Given the description of an element on the screen output the (x, y) to click on. 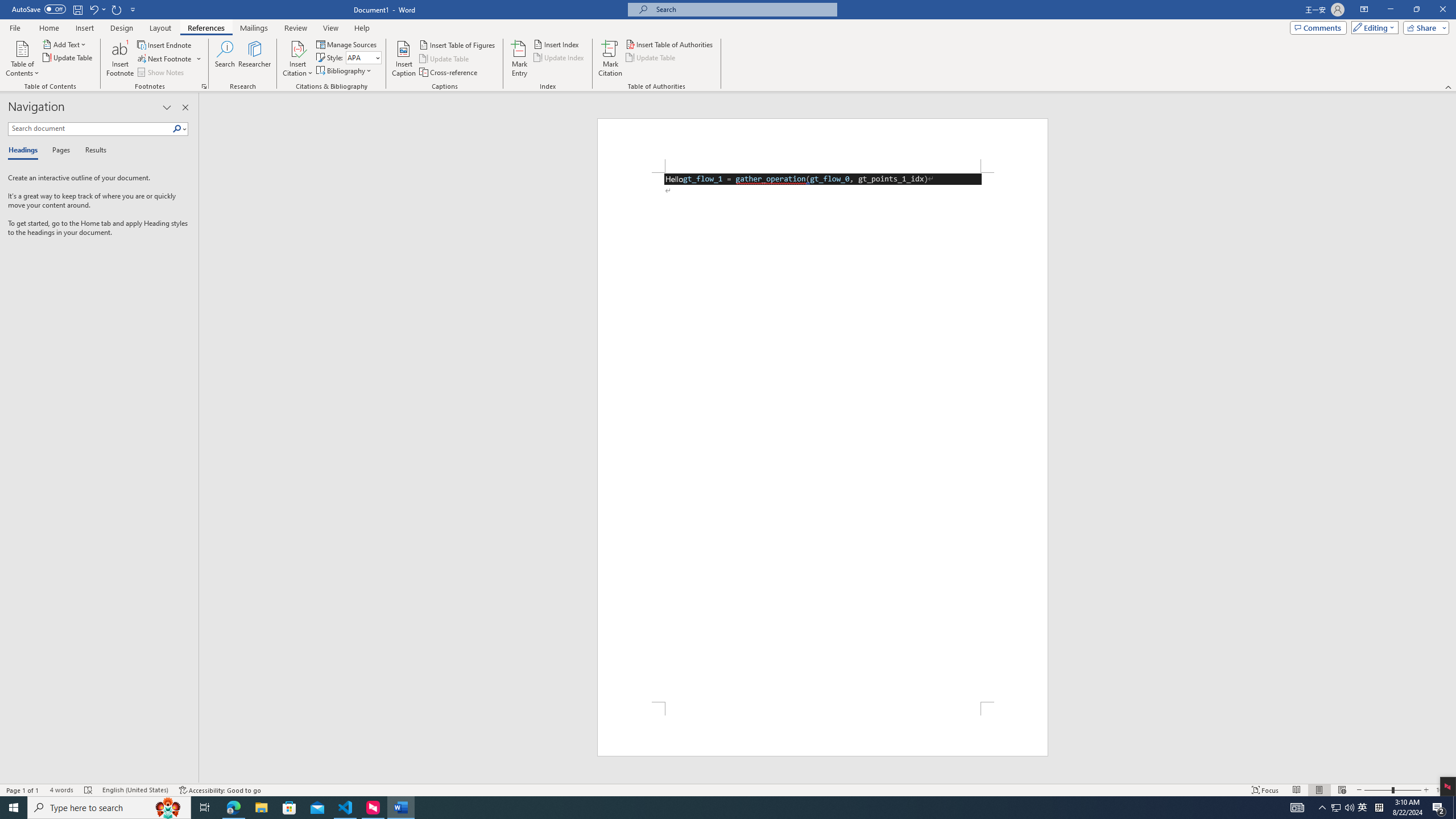
Update Table (651, 56)
Footnote and Endnote Dialog... (203, 85)
Insert Table of Authorities... (670, 44)
Class: NetUIScrollBar (1450, 437)
Mark Entry... (519, 58)
Show Notes (161, 72)
